Given the description of an element on the screen output the (x, y) to click on. 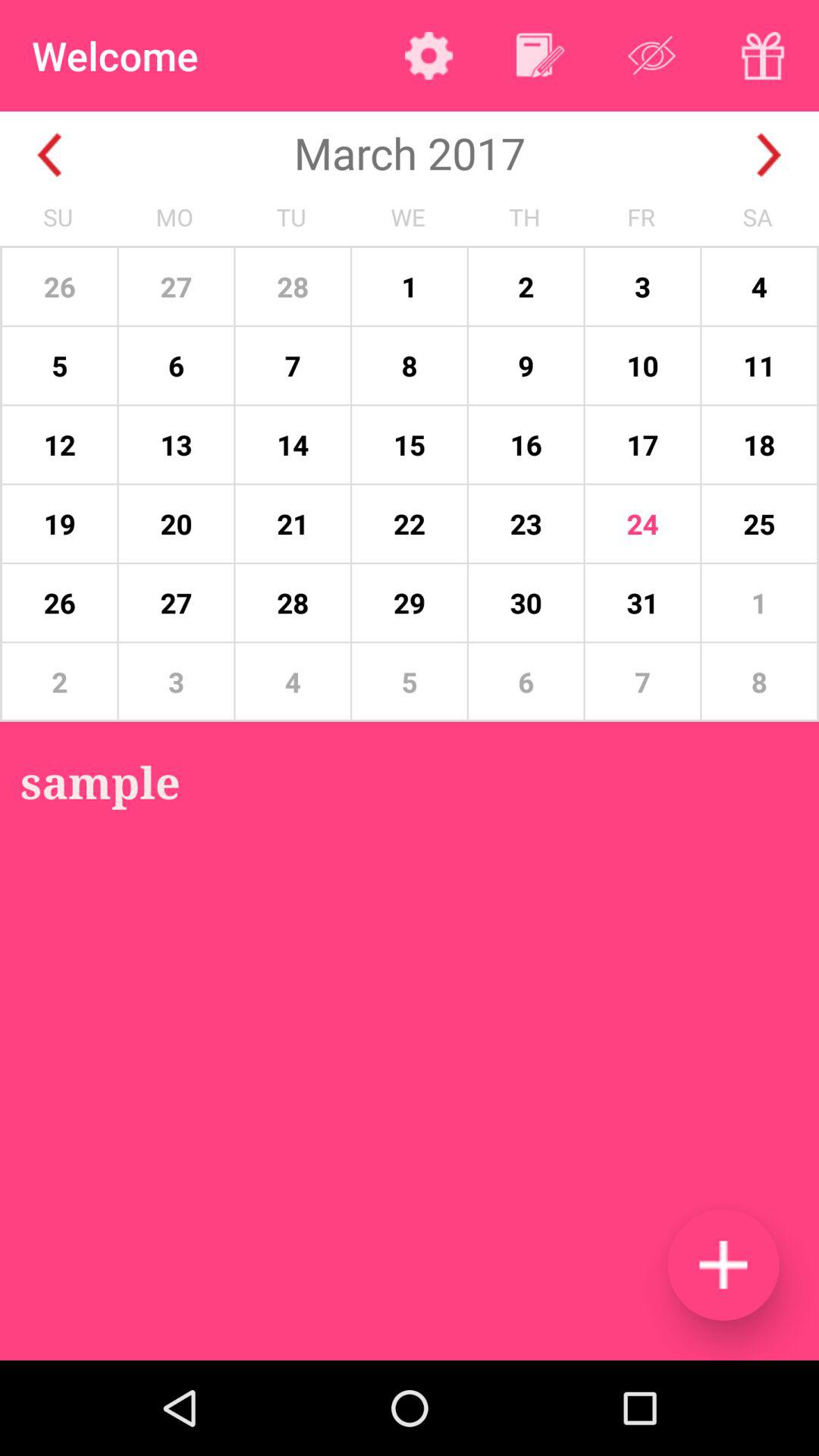
write a diary entry (540, 55)
